Given the description of an element on the screen output the (x, y) to click on. 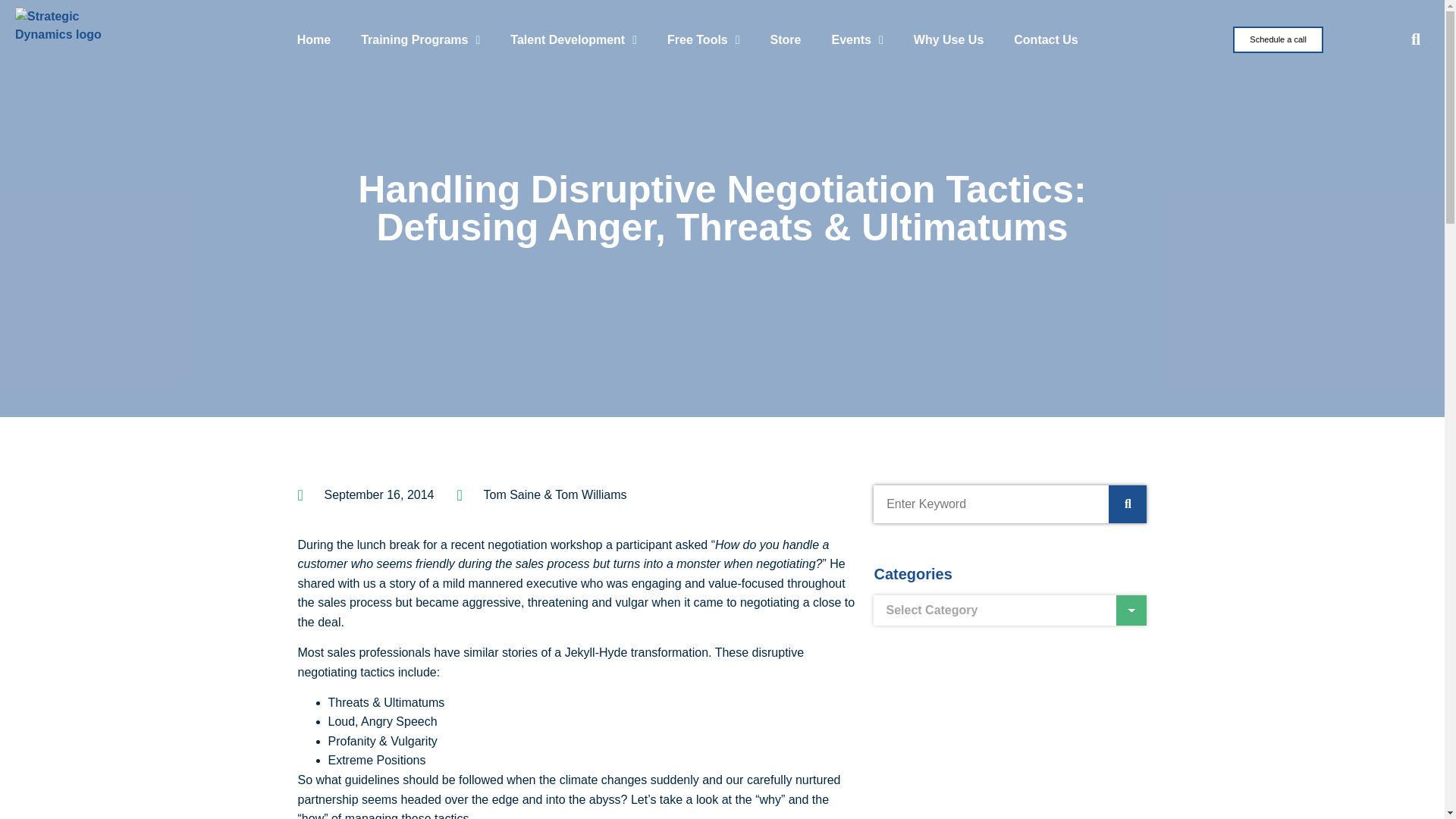
Events (856, 39)
Home (314, 39)
Why Use Us (948, 39)
Store (785, 39)
Training Programs (420, 39)
Contact Us (1045, 39)
Talent Development (573, 39)
Free Tools (703, 39)
